Given the description of an element on the screen output the (x, y) to click on. 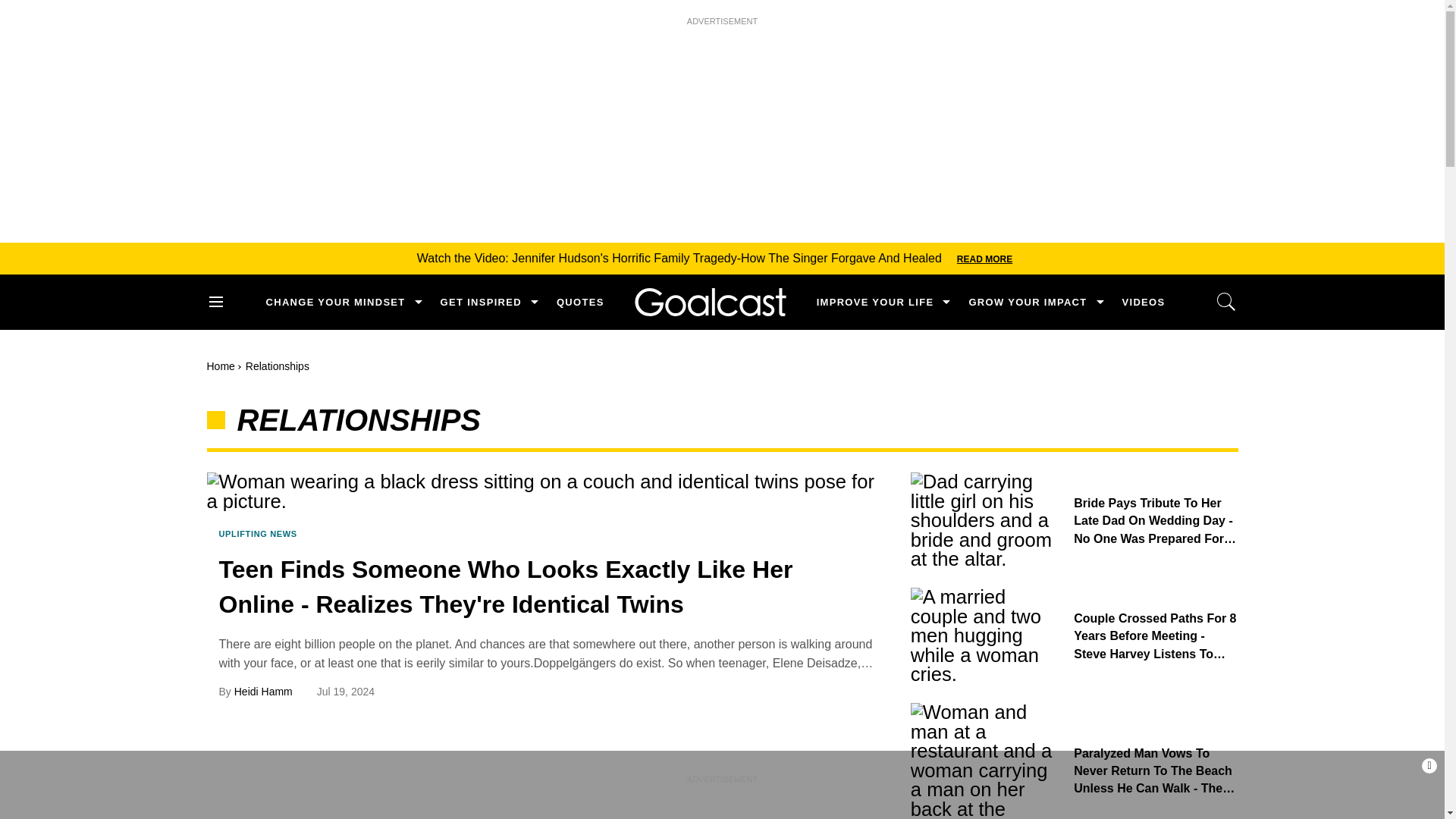
IMPROVE YOUR LIFE (875, 301)
GET INSPIRED (481, 301)
CHANGE YOUR MINDSET (334, 301)
QUOTES (580, 301)
GROW YOUR IMPACT (1027, 301)
VIDEOS (1144, 301)
